Given the description of an element on the screen output the (x, y) to click on. 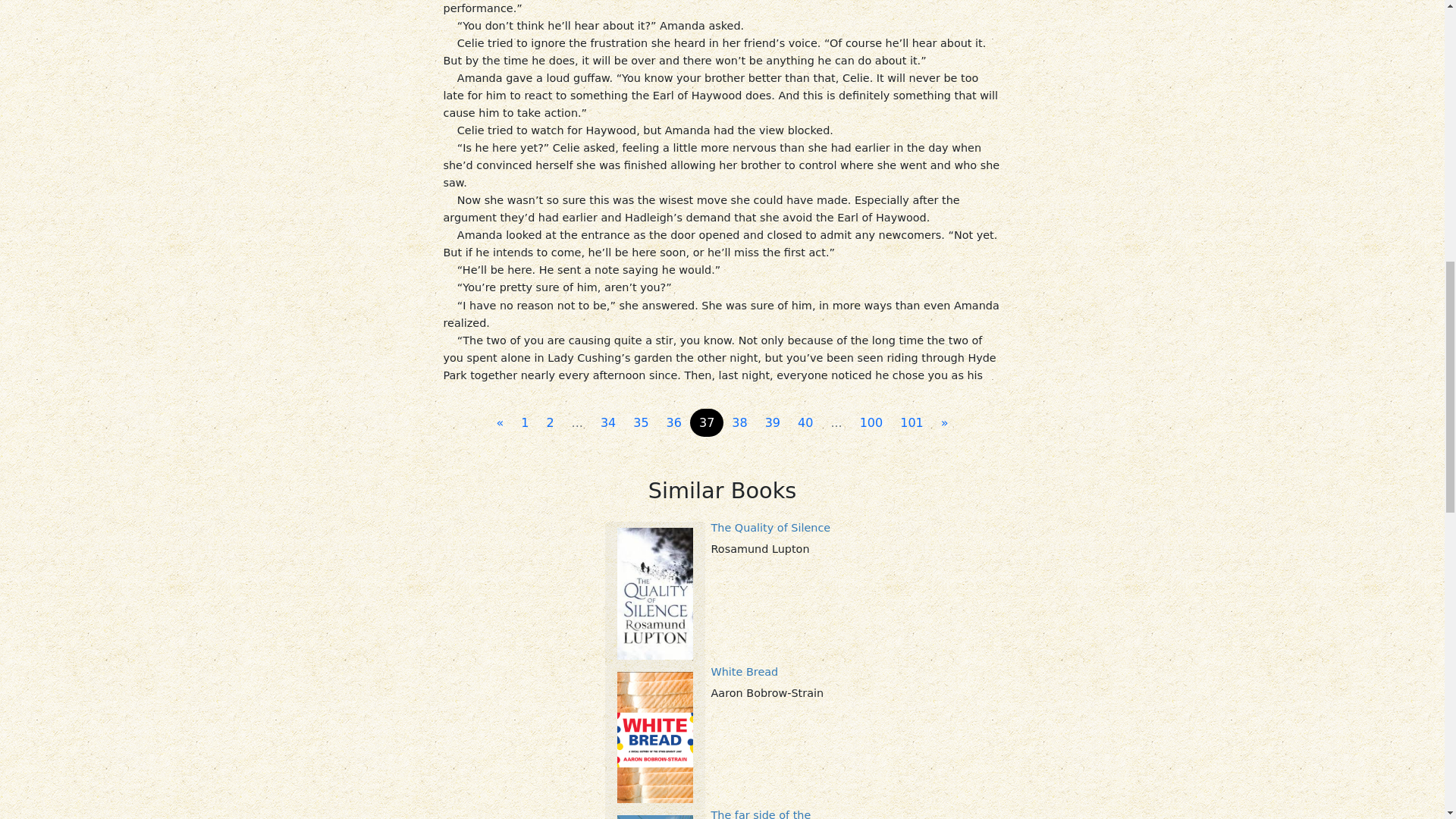
2 (549, 422)
34 (607, 422)
... (577, 422)
40 (805, 422)
37 (706, 422)
1 (524, 422)
36 (674, 422)
35 (641, 422)
38 (738, 422)
39 (772, 422)
